Given the description of an element on the screen output the (x, y) to click on. 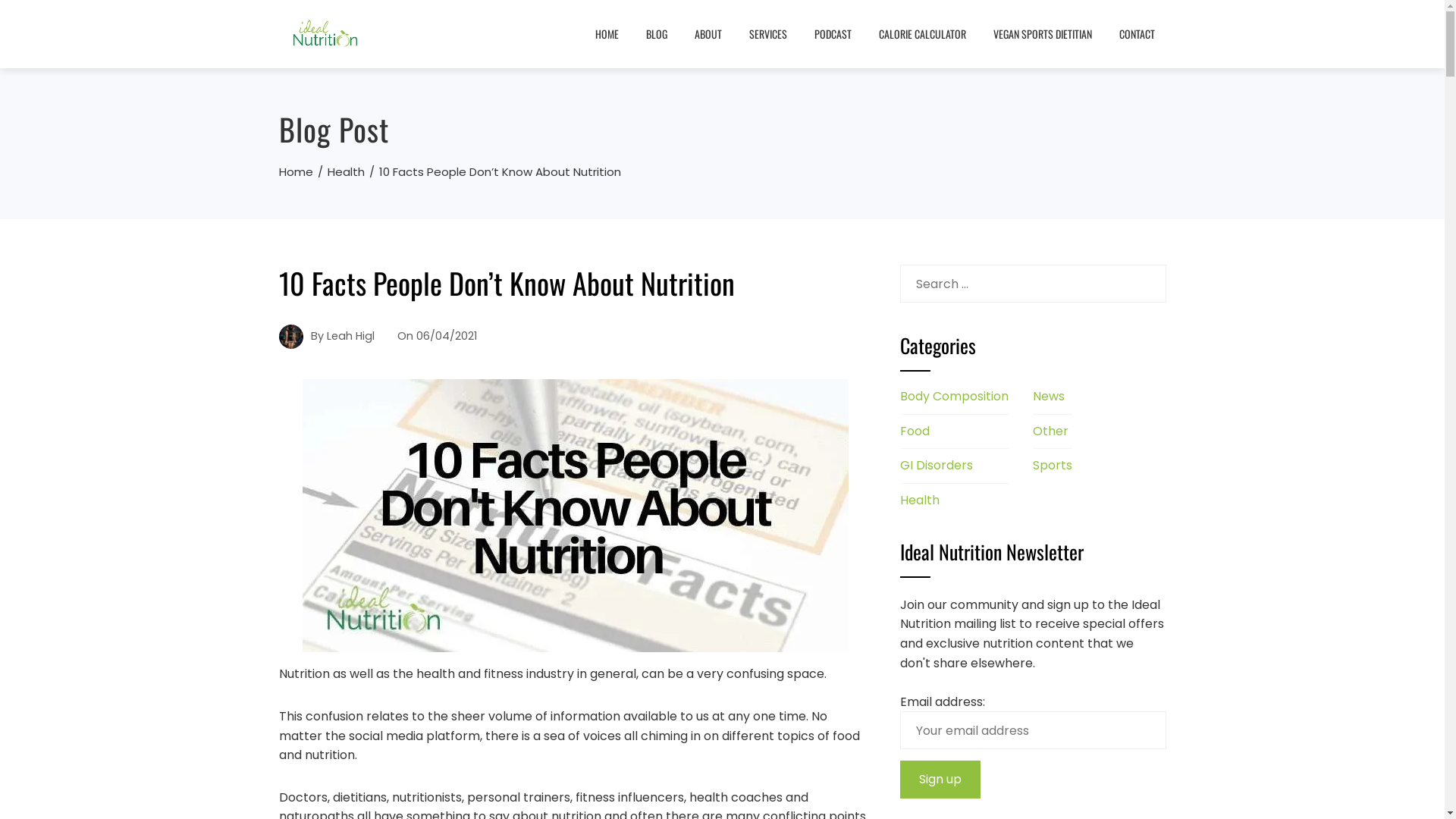
PODCAST Element type: text (832, 34)
BLOG Element type: text (655, 34)
Sign up Element type: text (939, 779)
Food Element type: text (913, 430)
Sports Element type: text (1052, 464)
Health Element type: text (918, 499)
Other Element type: text (1050, 430)
Home Element type: text (296, 171)
SERVICES Element type: text (767, 34)
CONTACT Element type: text (1136, 34)
Body Composition Element type: text (953, 395)
VEGAN SPORTS DIETITIAN Element type: text (1041, 34)
GI Disorders Element type: text (935, 464)
News Element type: text (1048, 395)
HOME Element type: text (606, 34)
10 facts people don't know about nutrition Element type: hover (575, 515)
ABOUT Element type: text (707, 34)
CALORIE CALCULATOR Element type: text (922, 34)
Health Element type: text (345, 171)
Search Element type: text (40, 18)
